Given the description of an element on the screen output the (x, y) to click on. 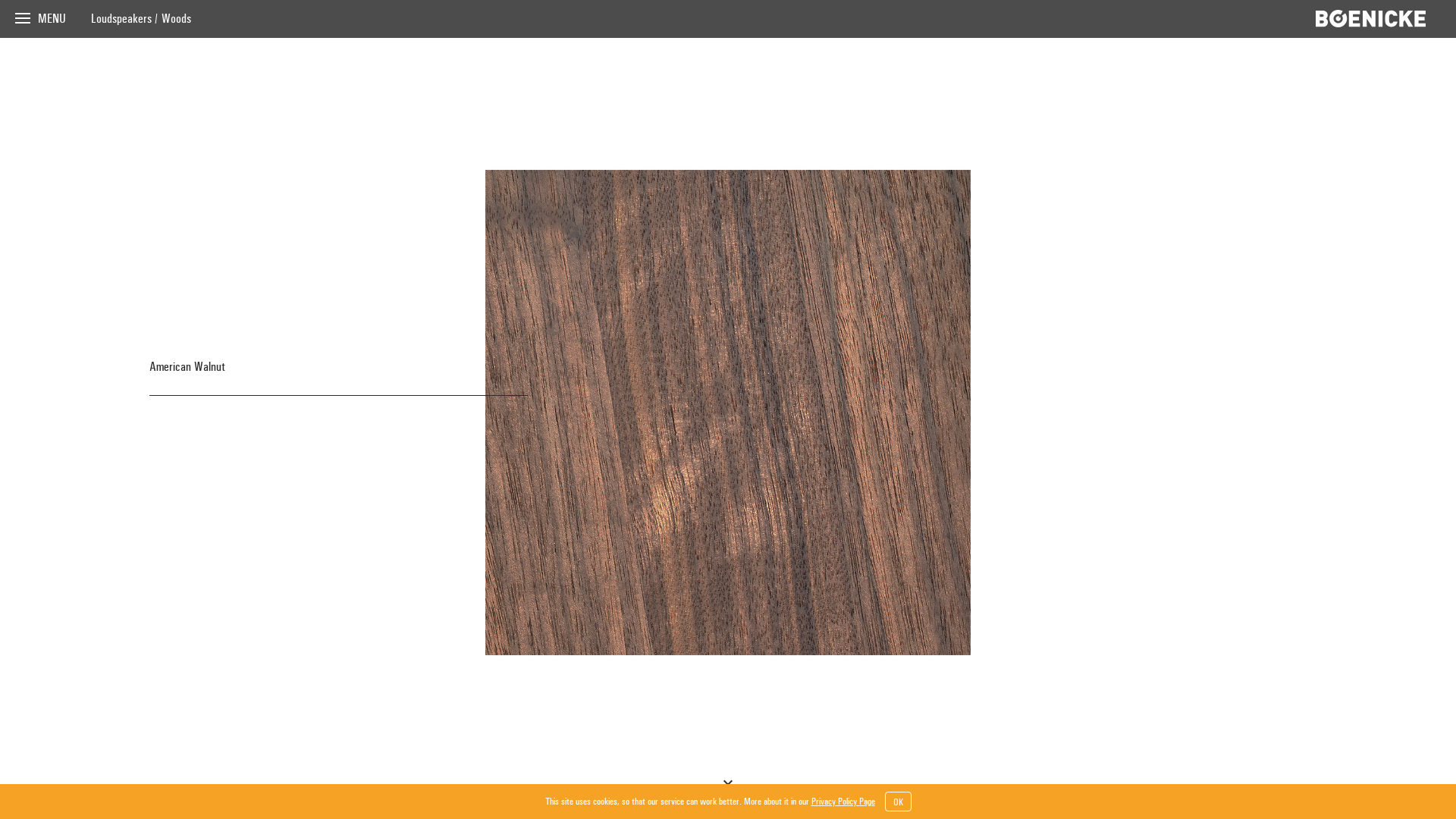
Privacy Policy Page Element type: text (843, 801)
OK Element type: text (897, 801)
